Given the description of an element on the screen output the (x, y) to click on. 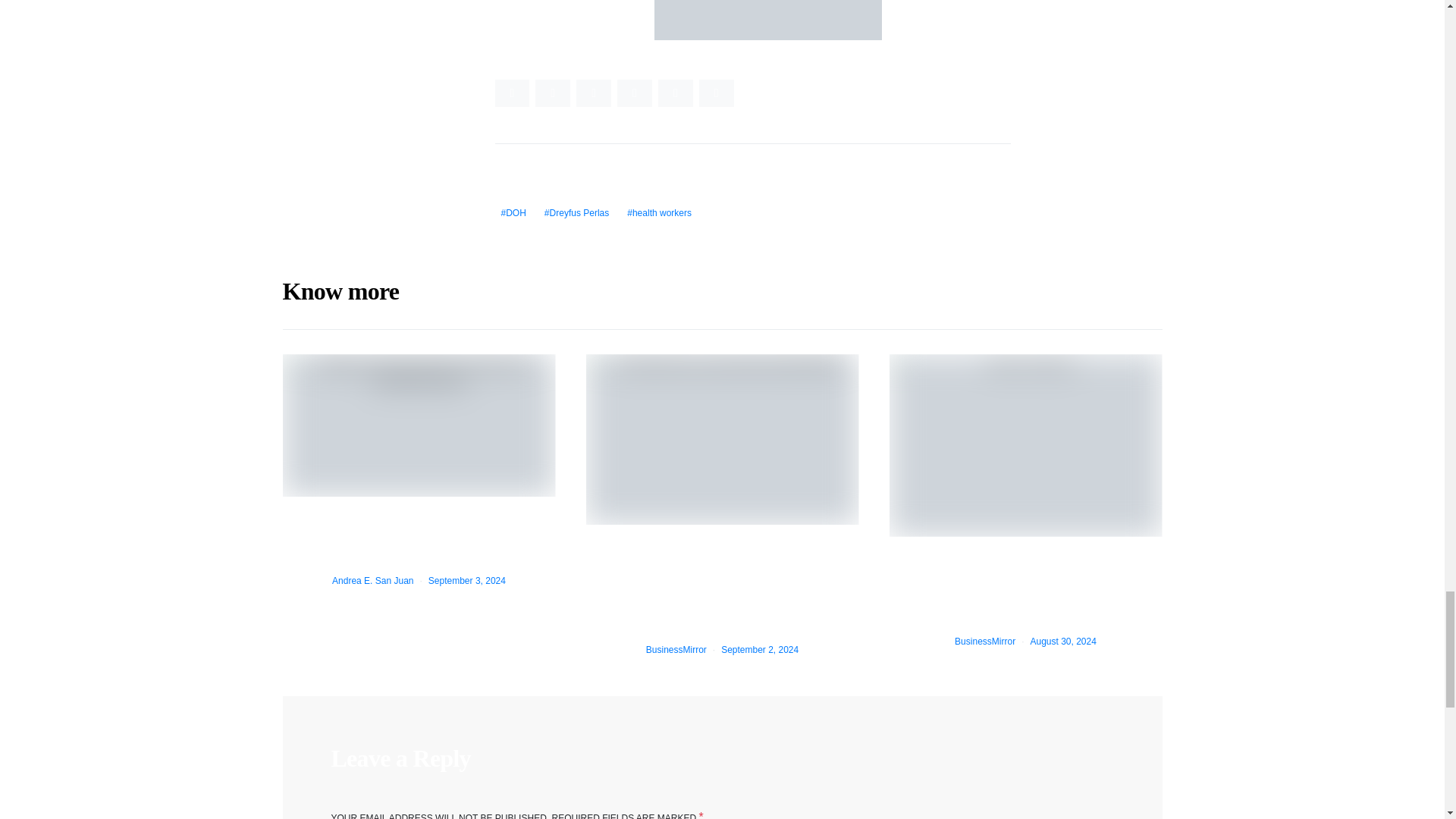
View all posts by BusinessMirror (676, 649)
View all posts by BusinessMirror (984, 641)
View all posts by Andrea E. San Juan (372, 580)
